Given the description of an element on the screen output the (x, y) to click on. 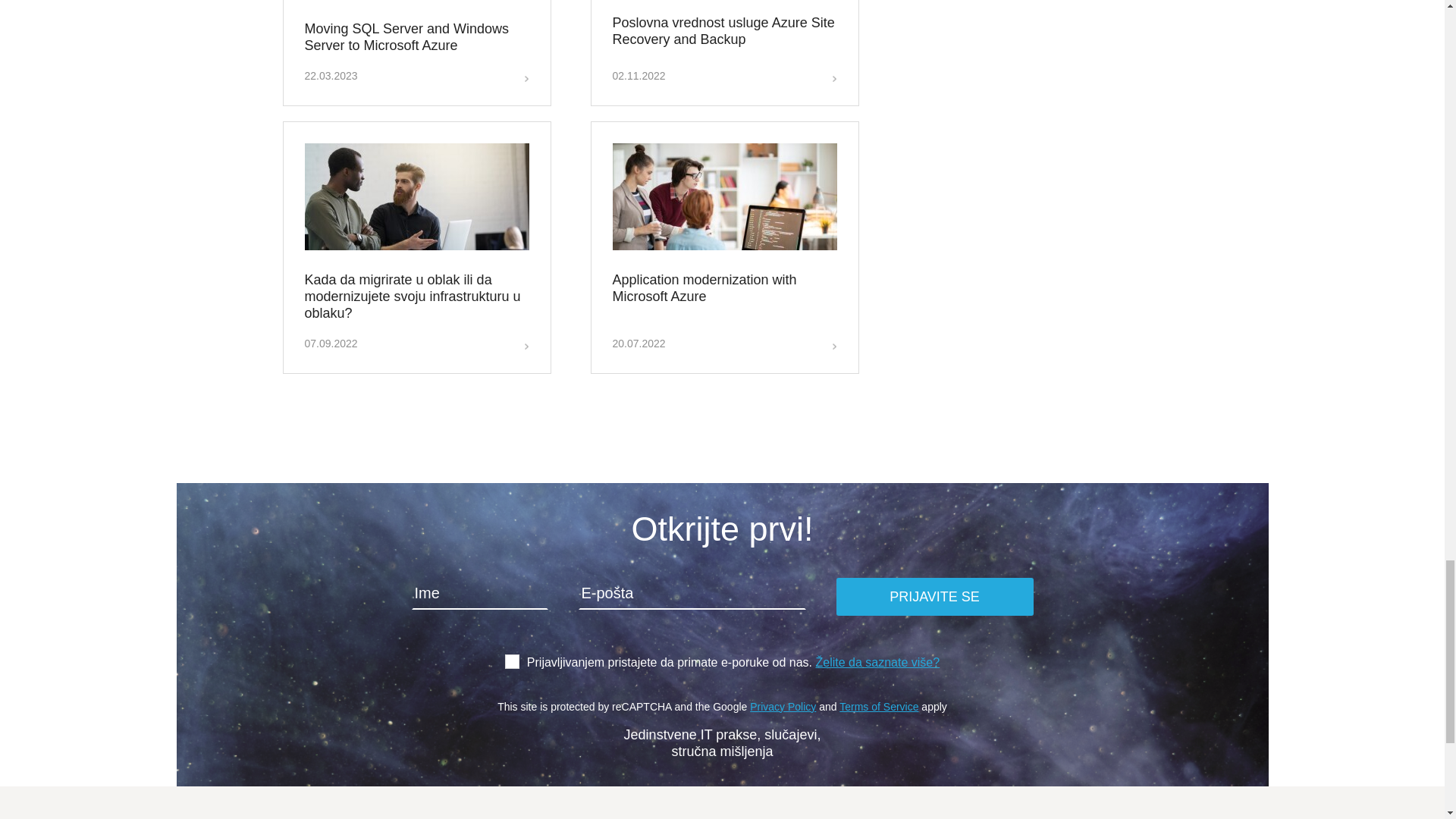
Prijavite se (933, 596)
